Given the description of an element on the screen output the (x, y) to click on. 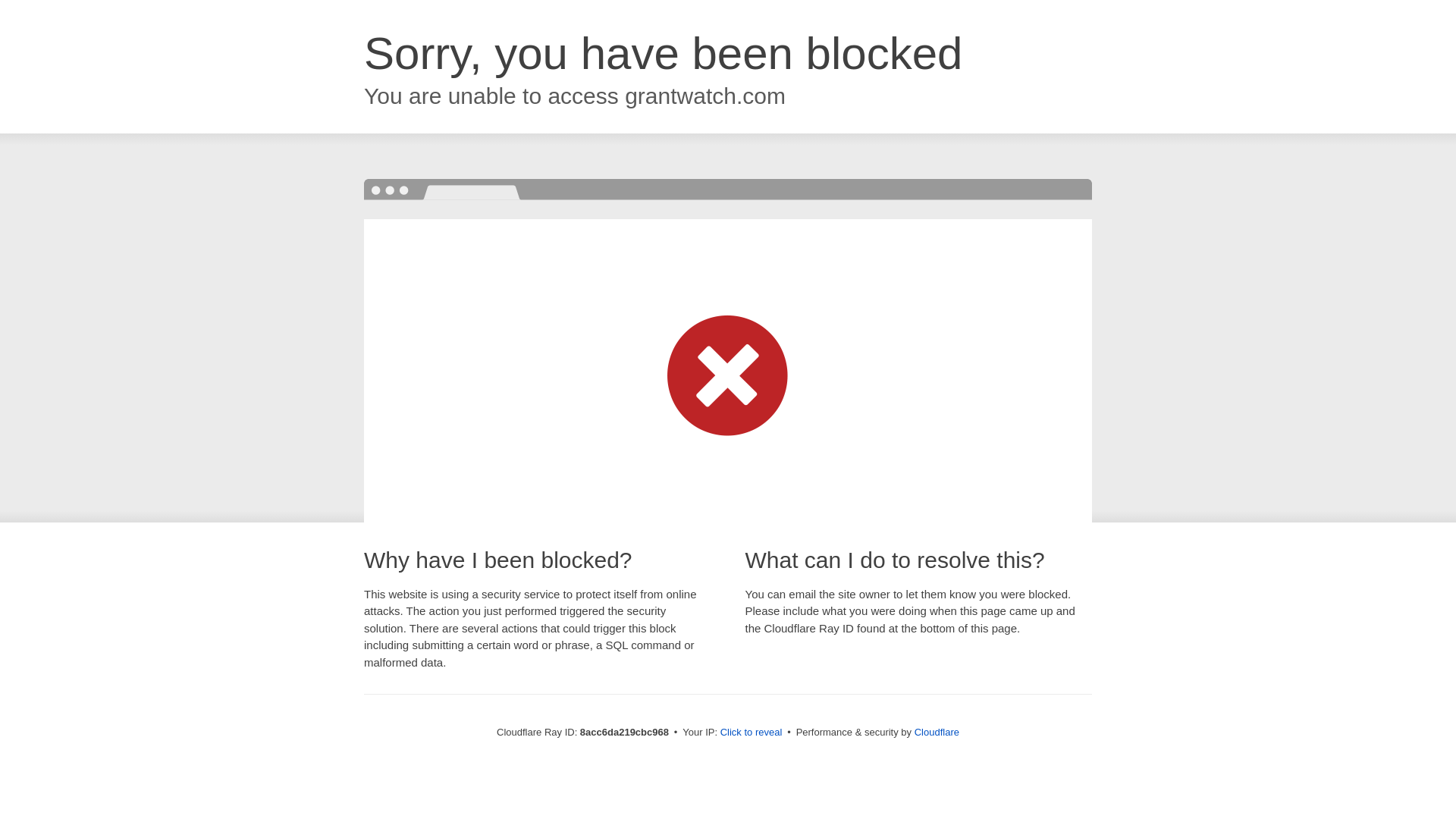
Cloudflare (936, 731)
Click to reveal (751, 732)
